Given the description of an element on the screen output the (x, y) to click on. 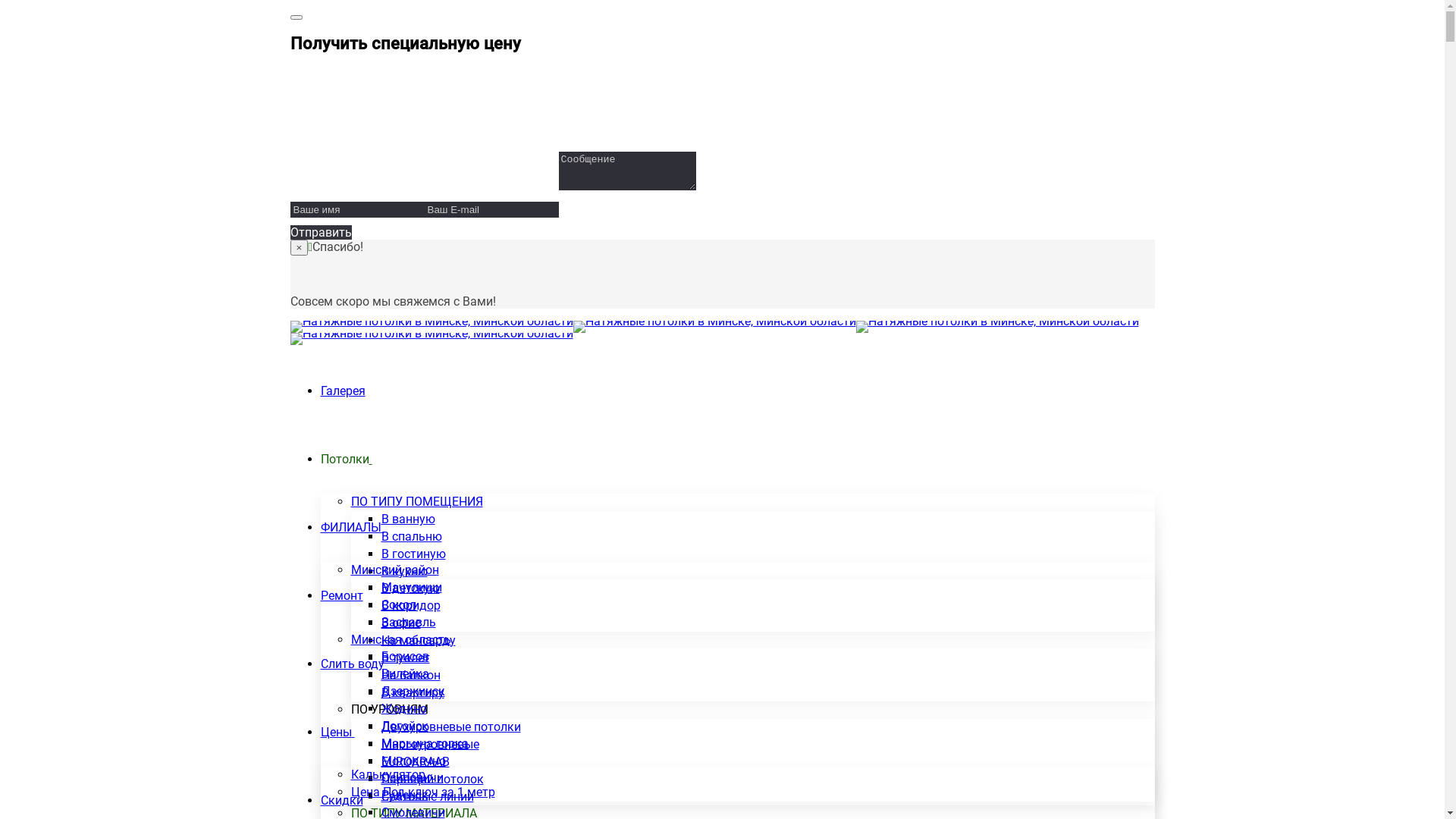
  Element type: text (369, 458)
EUROKRAAB Element type: text (414, 761)
Toggle navigation Element type: text (295, 17)
  Element type: text (352, 731)
info@white-sky.by Element type: text (357, 115)
+375 29 131-30-50 Element type: text (376, 91)
  Element type: text (381, 527)
